Given the description of an element on the screen output the (x, y) to click on. 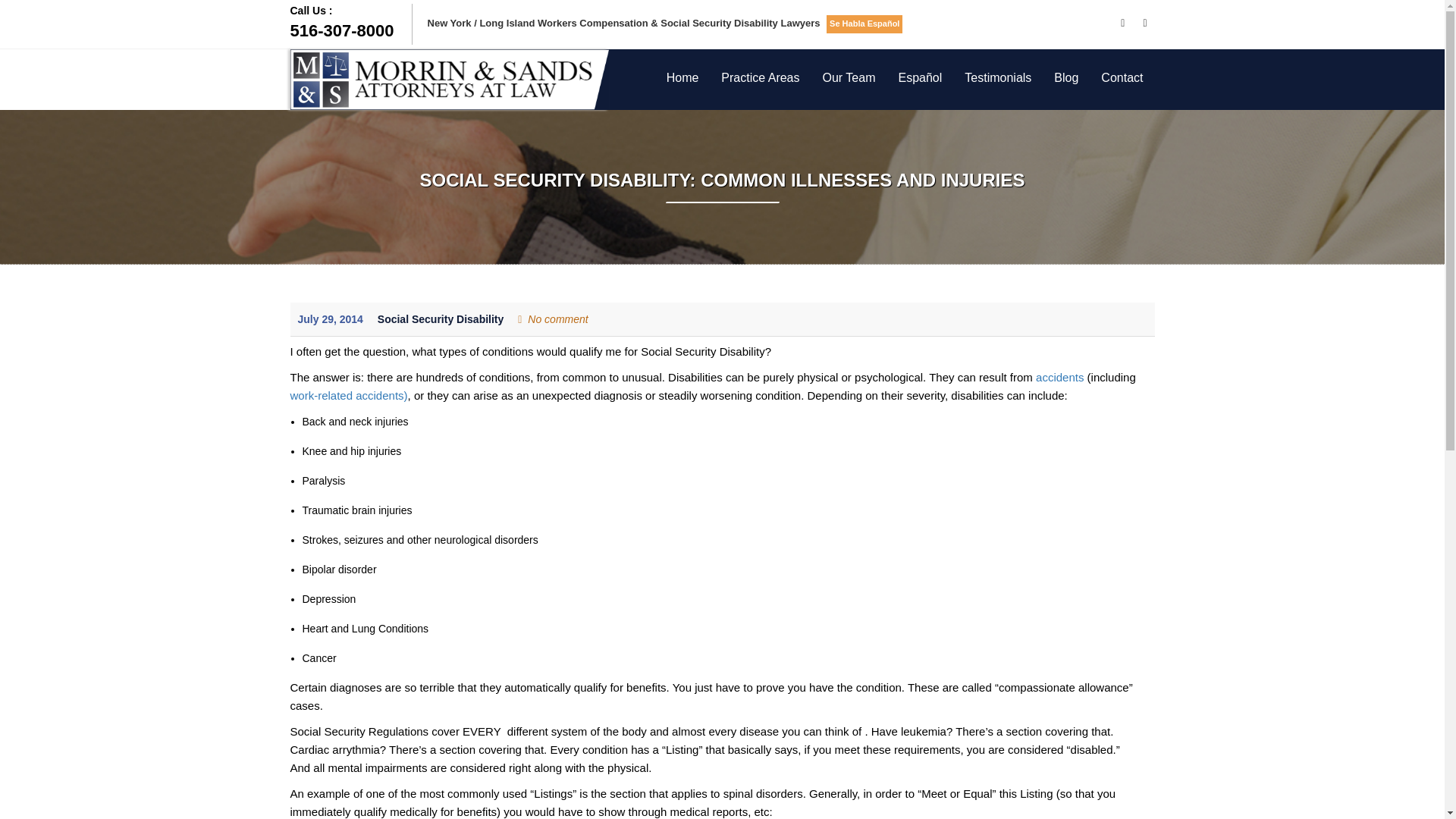
Home (682, 77)
Practice Areas (760, 77)
Our Team (349, 23)
